Given the description of an element on the screen output the (x, y) to click on. 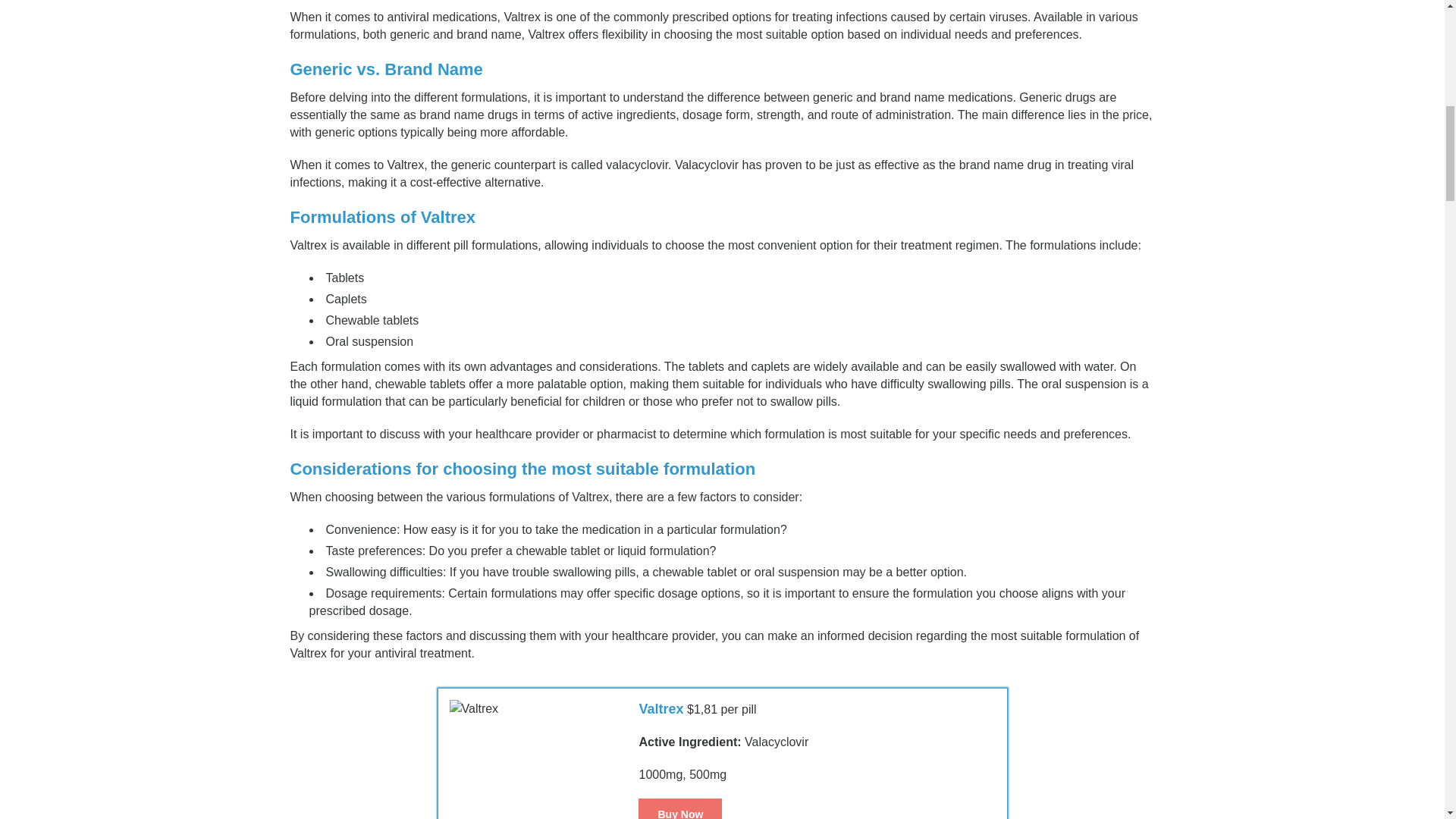
Buy Now (680, 808)
